Given the description of an element on the screen output the (x, y) to click on. 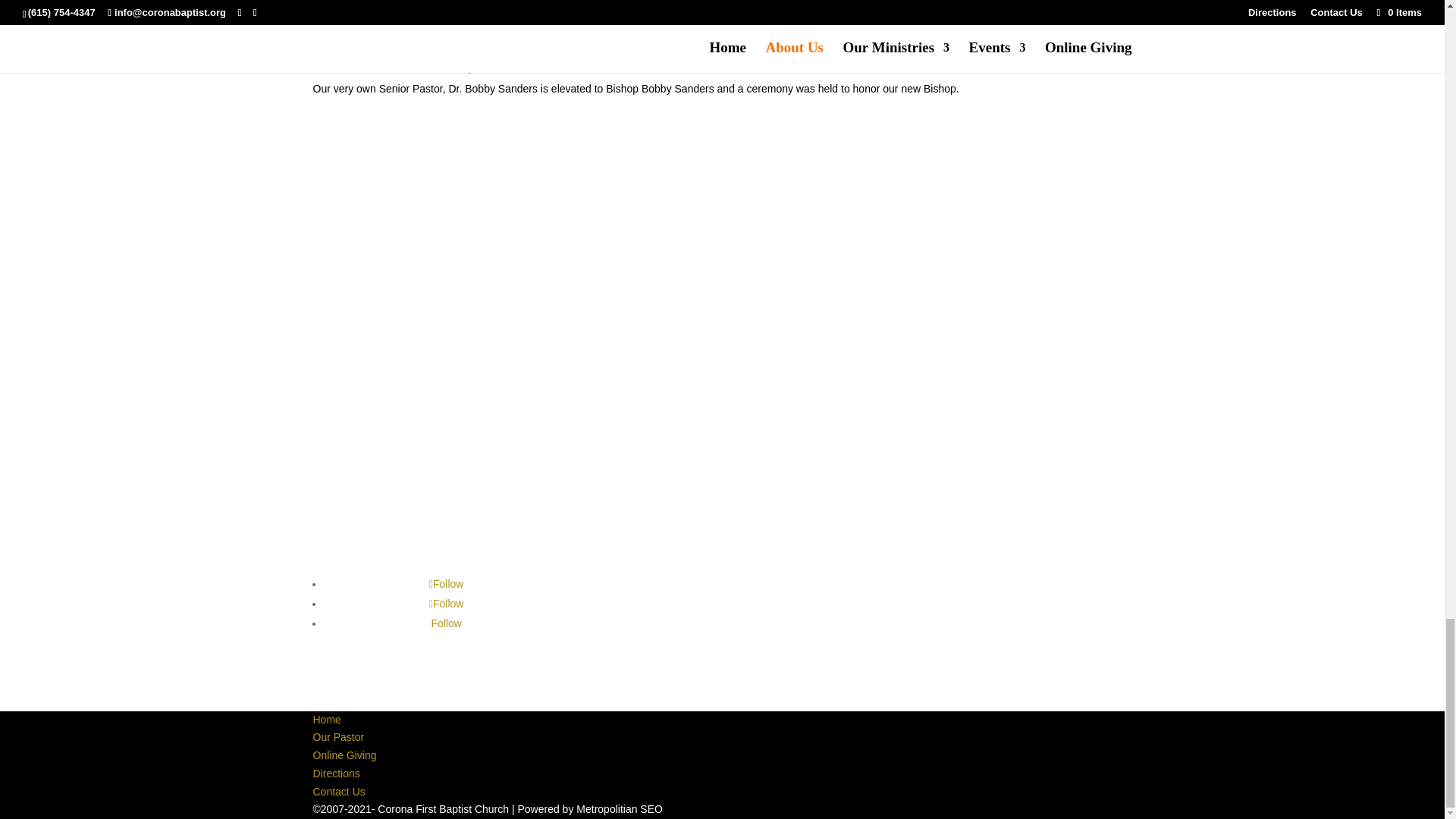
Follow on X (446, 603)
Our Pastor (338, 736)
Metropolitian SEO (619, 808)
Follow (446, 603)
Follow (445, 623)
Metropolitan SEO (619, 808)
Contact Us (339, 791)
Follow (446, 583)
Follow on Facebook (446, 583)
Follow on LinkedIn (445, 623)
Directions (336, 773)
Online Giving (344, 755)
Home (326, 719)
